Given the description of an element on the screen output the (x, y) to click on. 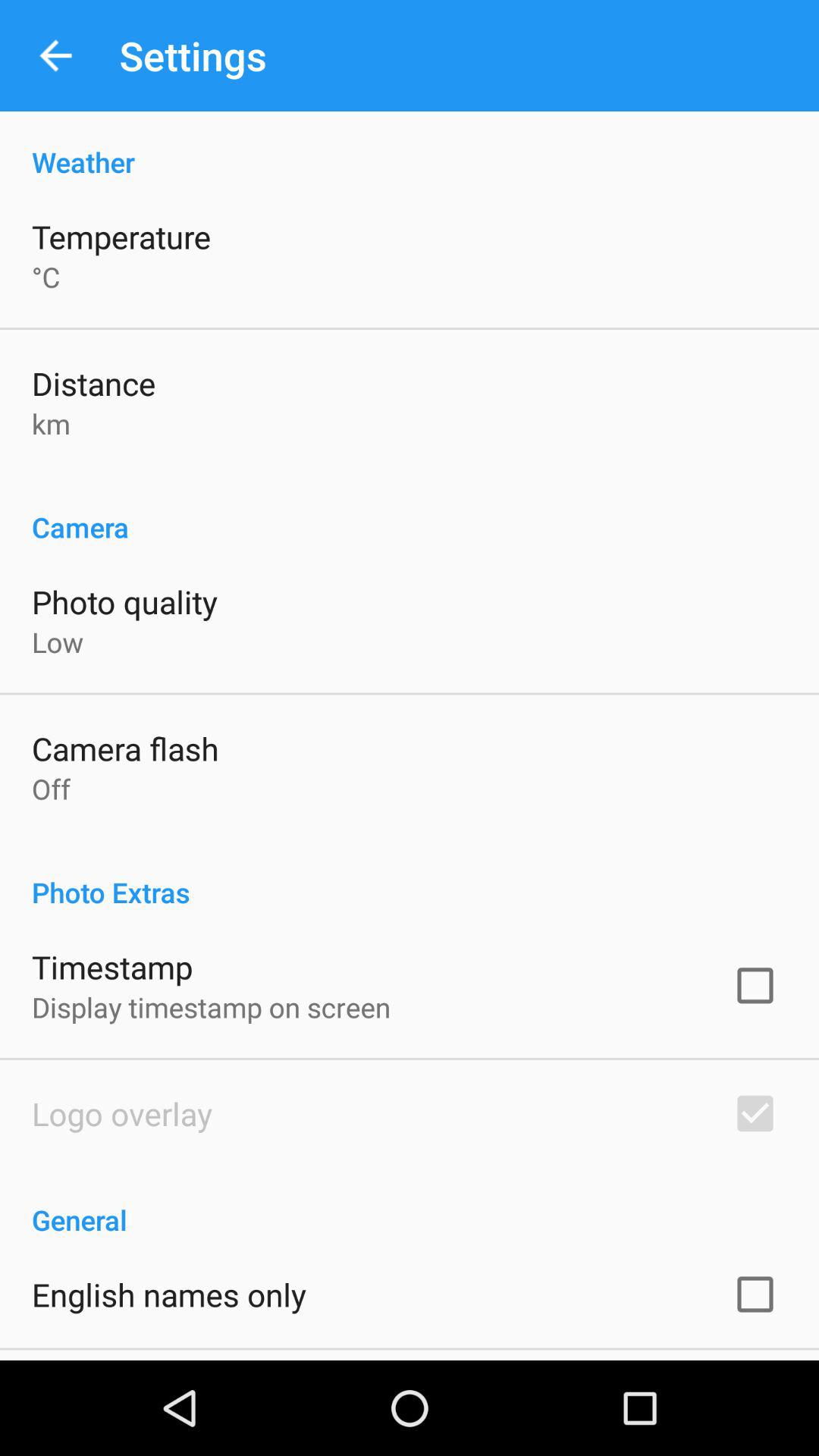
turn on app next to settings app (55, 55)
